Given the description of an element on the screen output the (x, y) to click on. 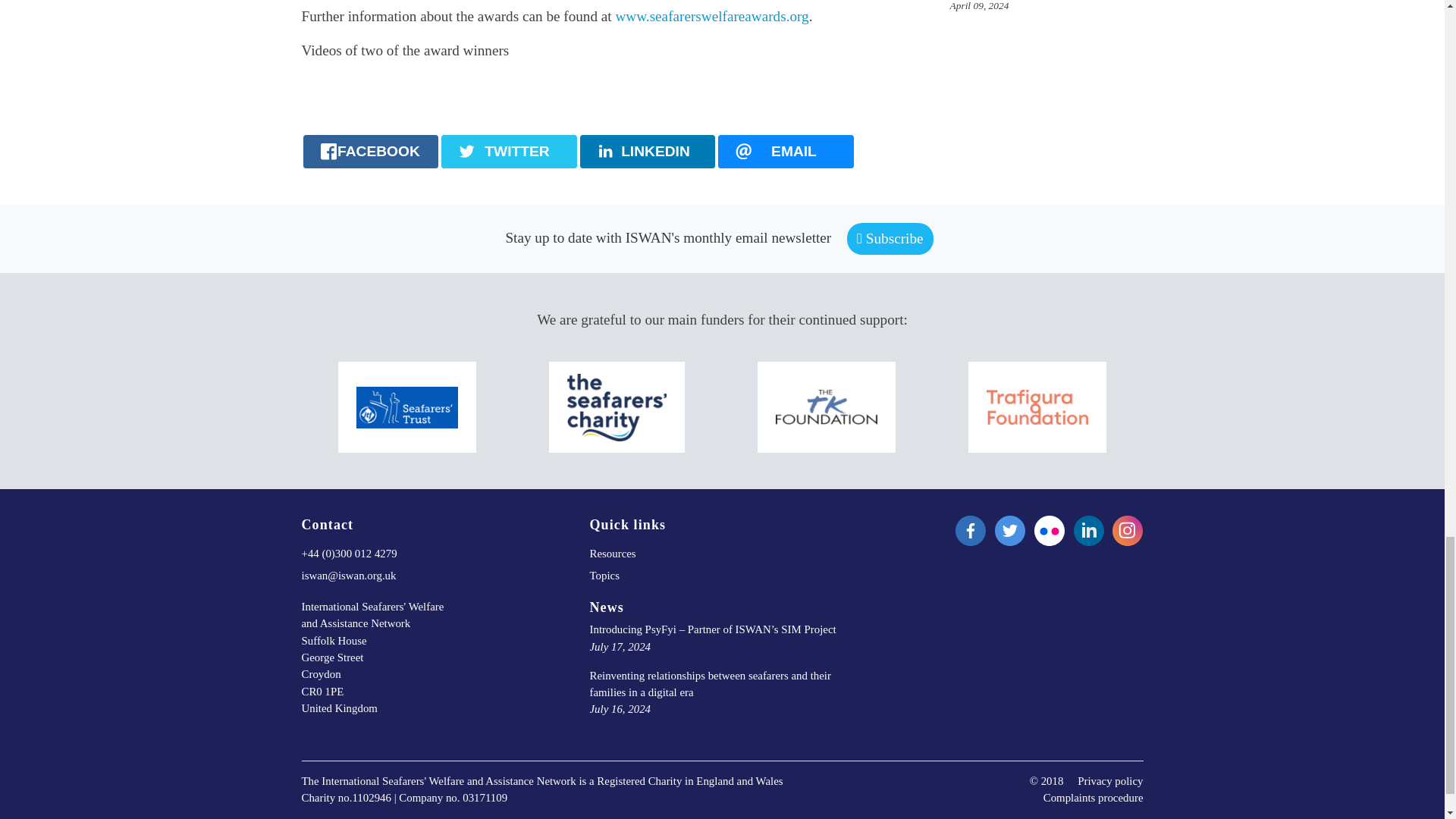
The TK Foundation (826, 406)
The TK Foundation (826, 407)
The Seafarers' Charity (616, 406)
TWITTER (508, 151)
Trafigura Foundation (1036, 407)
www.seafarerswelfareawards.org (712, 16)
FACEBOOK (370, 151)
ITF Seafarers' Trust (407, 407)
Trafigura Foundation (1036, 406)
ITF Seafarers' Trust (407, 406)
EMAIL (785, 151)
LINKEDIN (646, 151)
The Seafarers' Charity (616, 407)
